Given the description of an element on the screen output the (x, y) to click on. 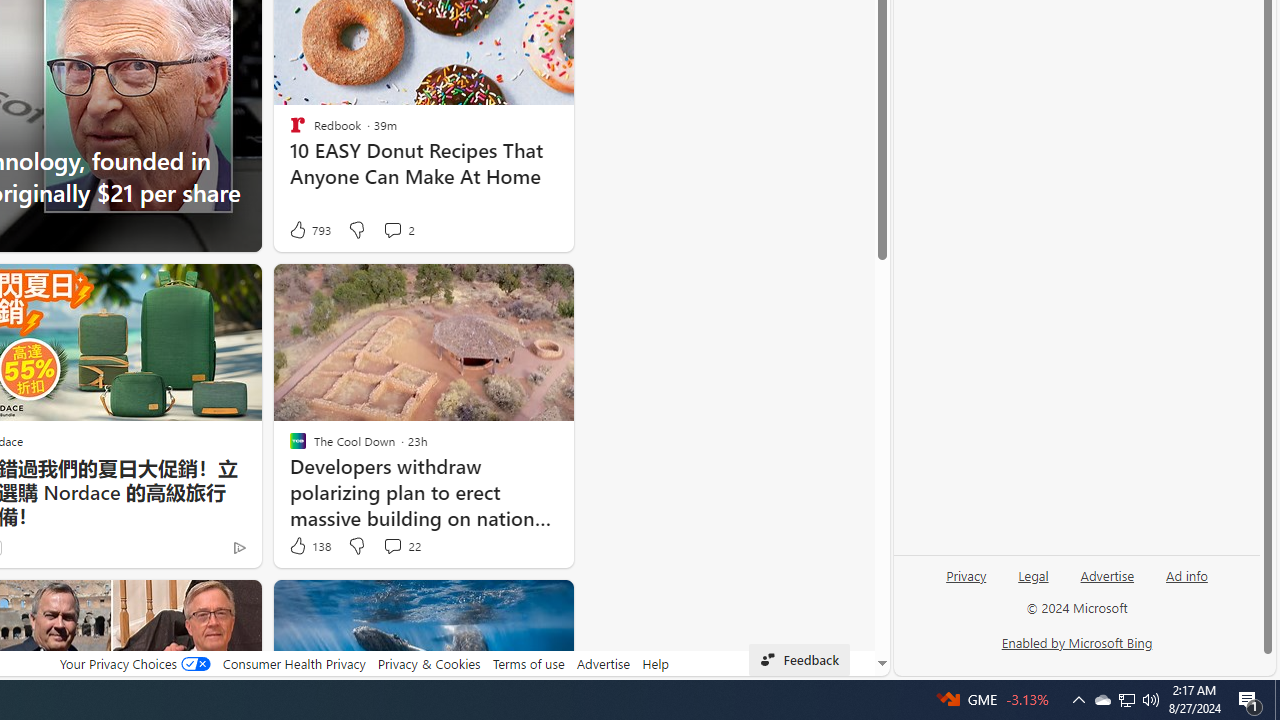
Consumer Health Privacy (293, 663)
Legal (1033, 574)
Help (655, 663)
Privacy & Cookies (429, 663)
Terms of use (527, 663)
138 Like (309, 546)
Hide this story (512, 603)
793 Like (309, 230)
Ad info (1187, 574)
